Given the description of an element on the screen output the (x, y) to click on. 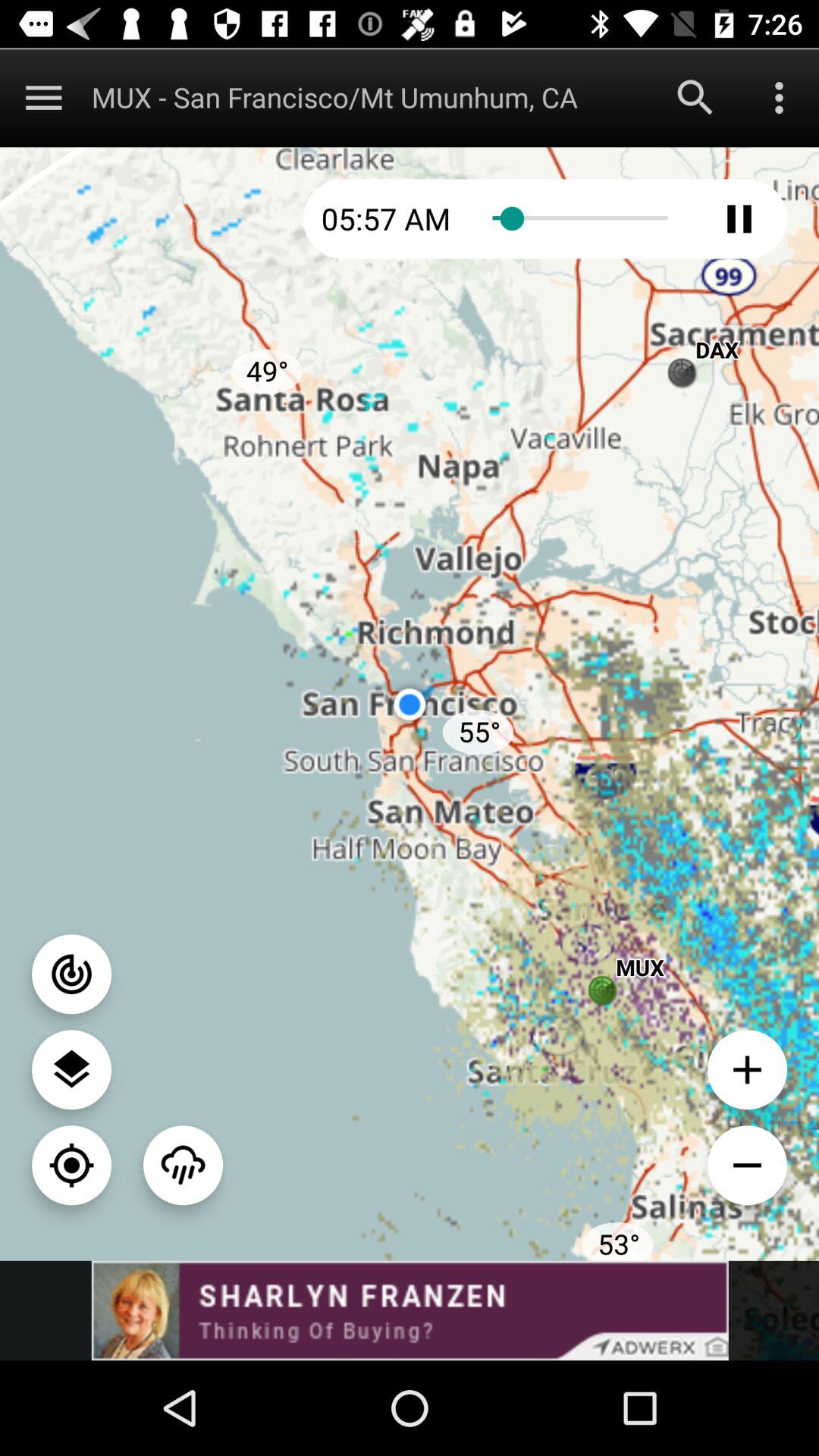
more settings (779, 97)
